Given the description of an element on the screen output the (x, y) to click on. 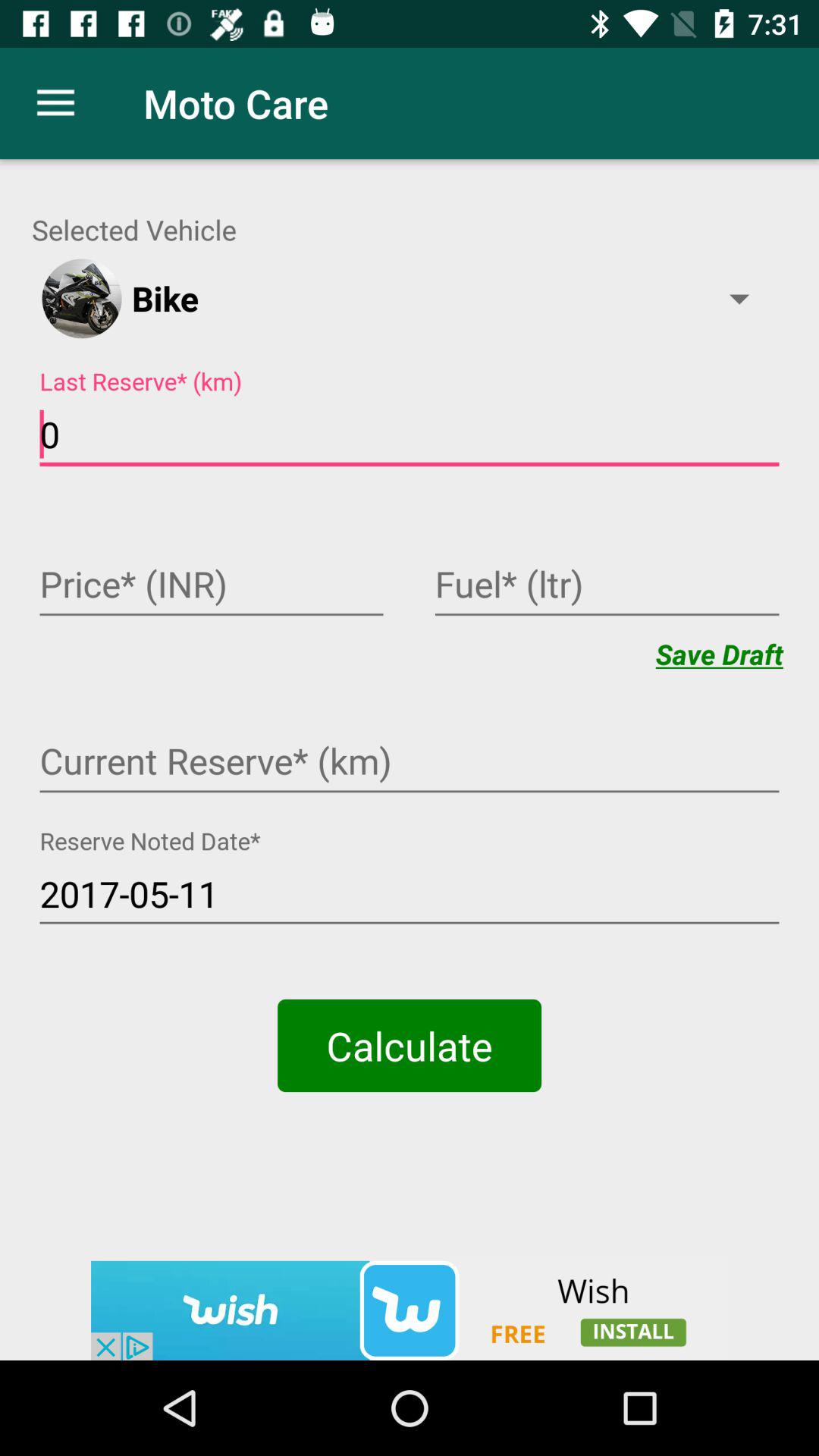
amount of fuel in ltrs (607, 586)
